Given the description of an element on the screen output the (x, y) to click on. 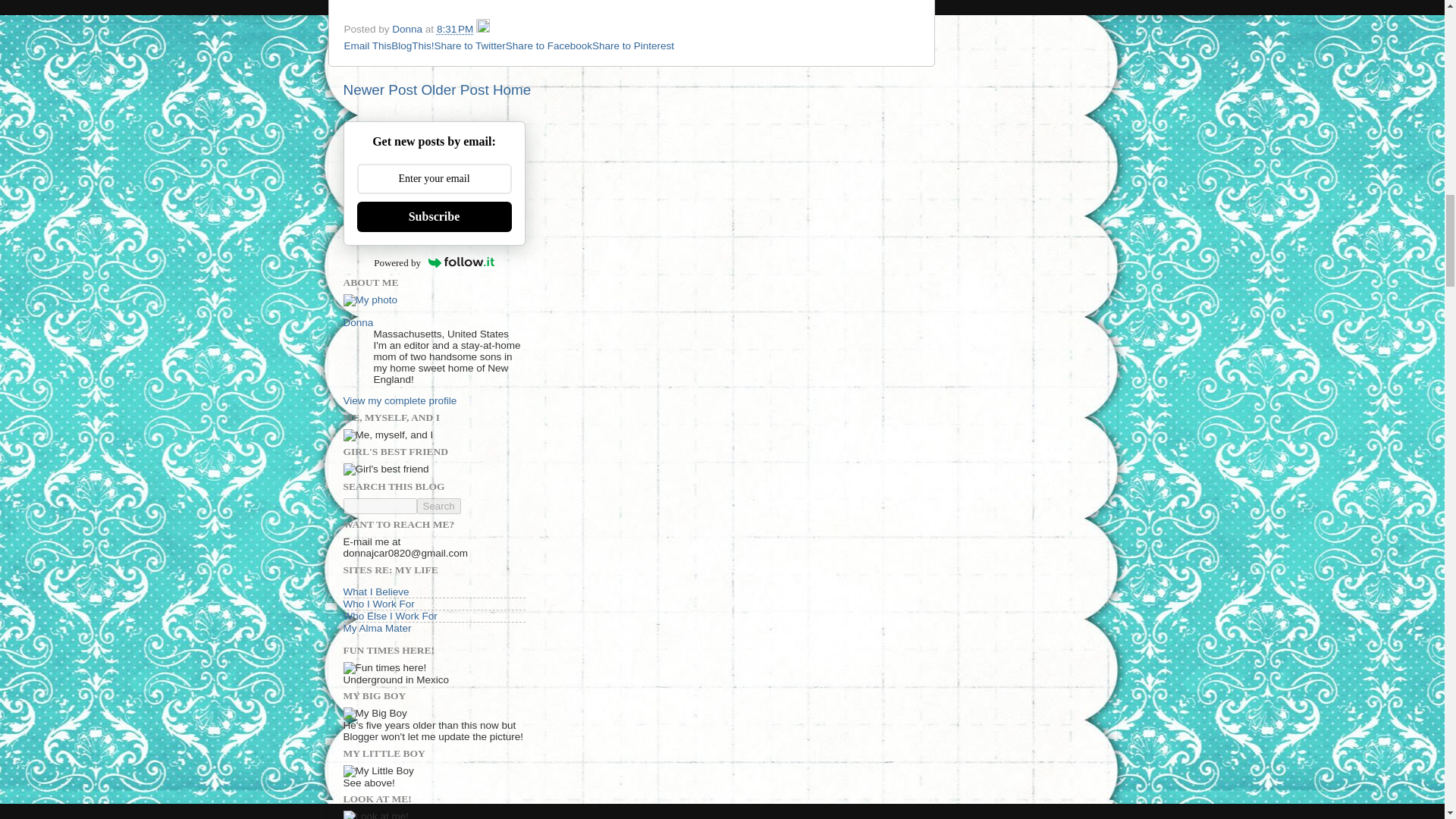
Share to Twitter (469, 45)
BlogThis! (412, 45)
Share to Twitter (469, 45)
Share to Pinterest (633, 45)
Who Else I Work For (389, 615)
Email This (367, 45)
My Alma Mater (376, 627)
What I Believe (375, 591)
Older Post (453, 89)
View my complete profile (399, 400)
Edit Post (482, 29)
Donna (408, 29)
permanent link (454, 29)
Donna (357, 322)
Home (512, 89)
